Given the description of an element on the screen output the (x, y) to click on. 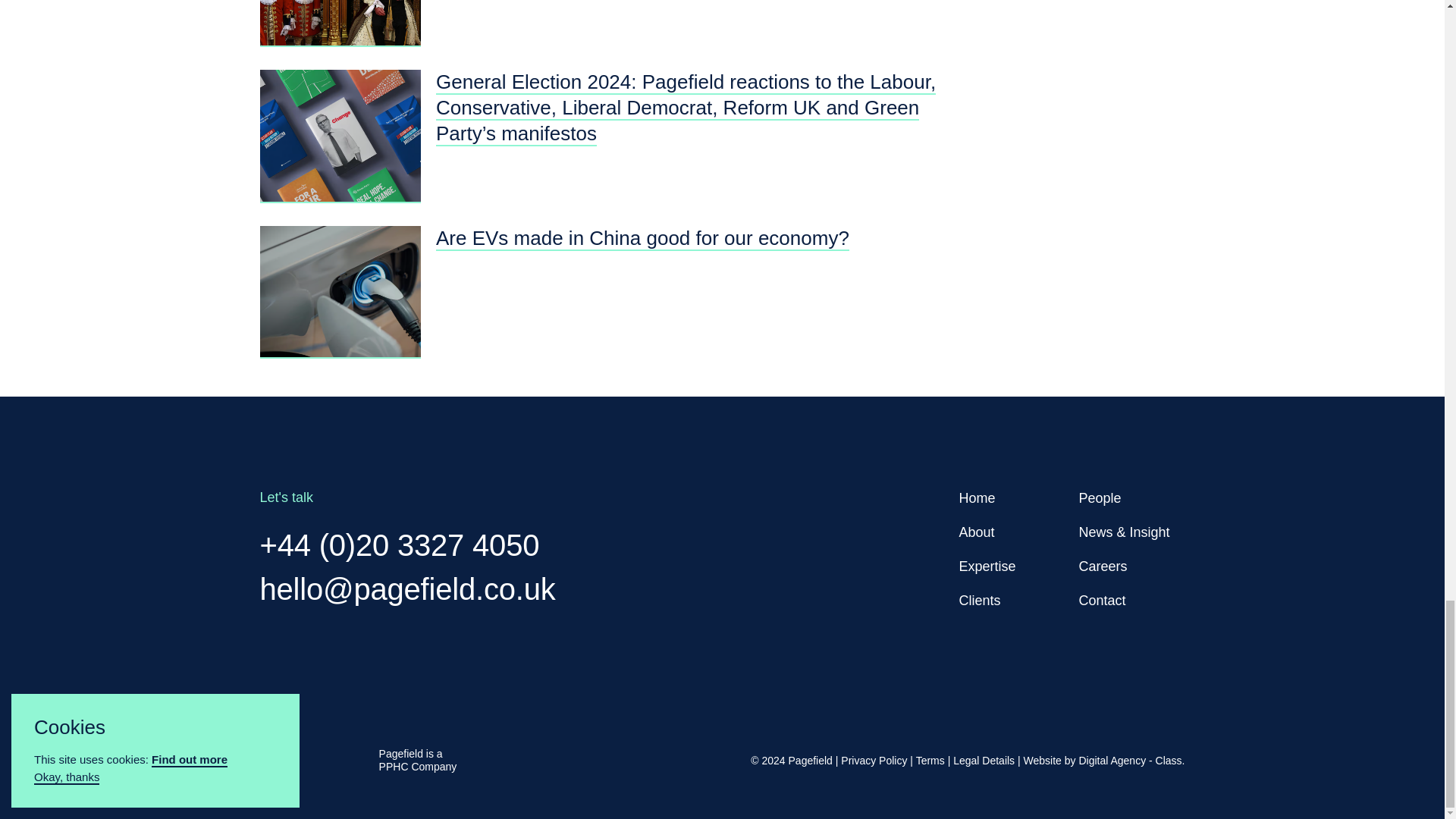
Careers (1102, 566)
Contact (1101, 600)
Are EVs made in China good for our economy? (641, 241)
Expertise (986, 566)
About (976, 531)
Home (976, 498)
Clients (979, 600)
People (1099, 498)
